Given the description of an element on the screen output the (x, y) to click on. 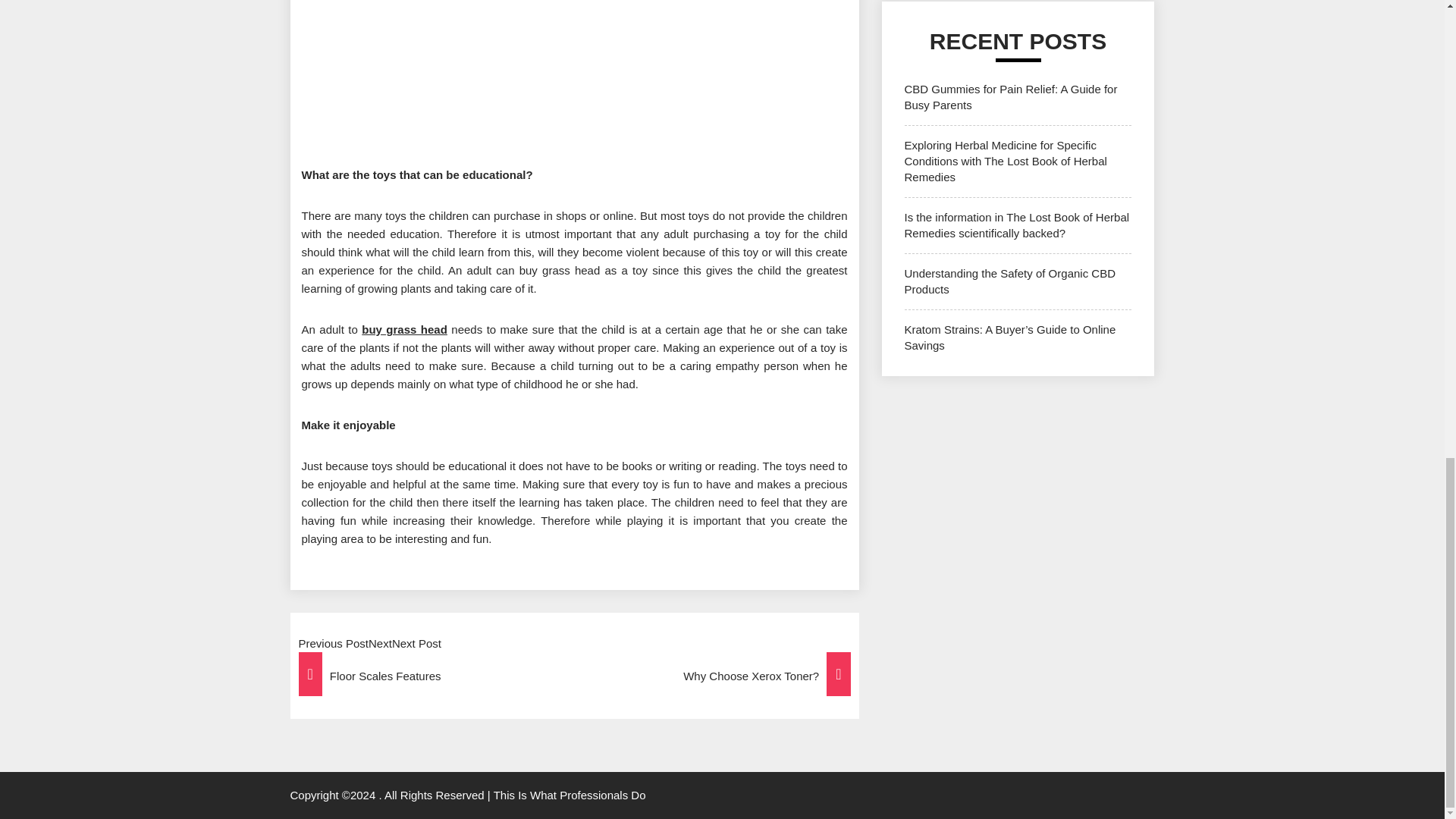
Understanding the Safety of Organic CBD Products (1009, 280)
buy grass head (403, 328)
CBD Gummies for Pain Relief: A Guide for Busy Parents (1010, 96)
